Given the description of an element on the screen output the (x, y) to click on. 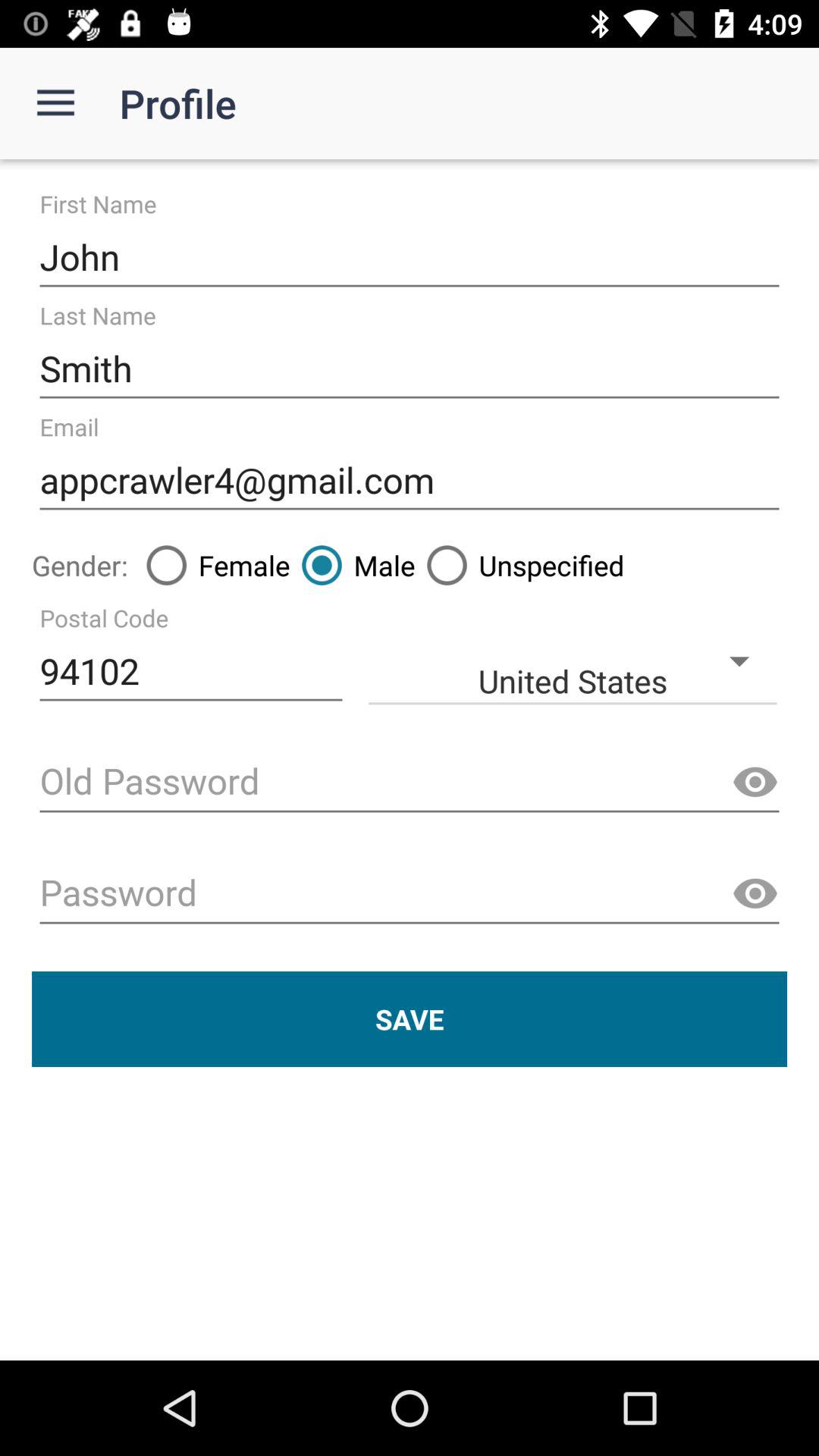
enter old password (409, 783)
